Given the description of an element on the screen output the (x, y) to click on. 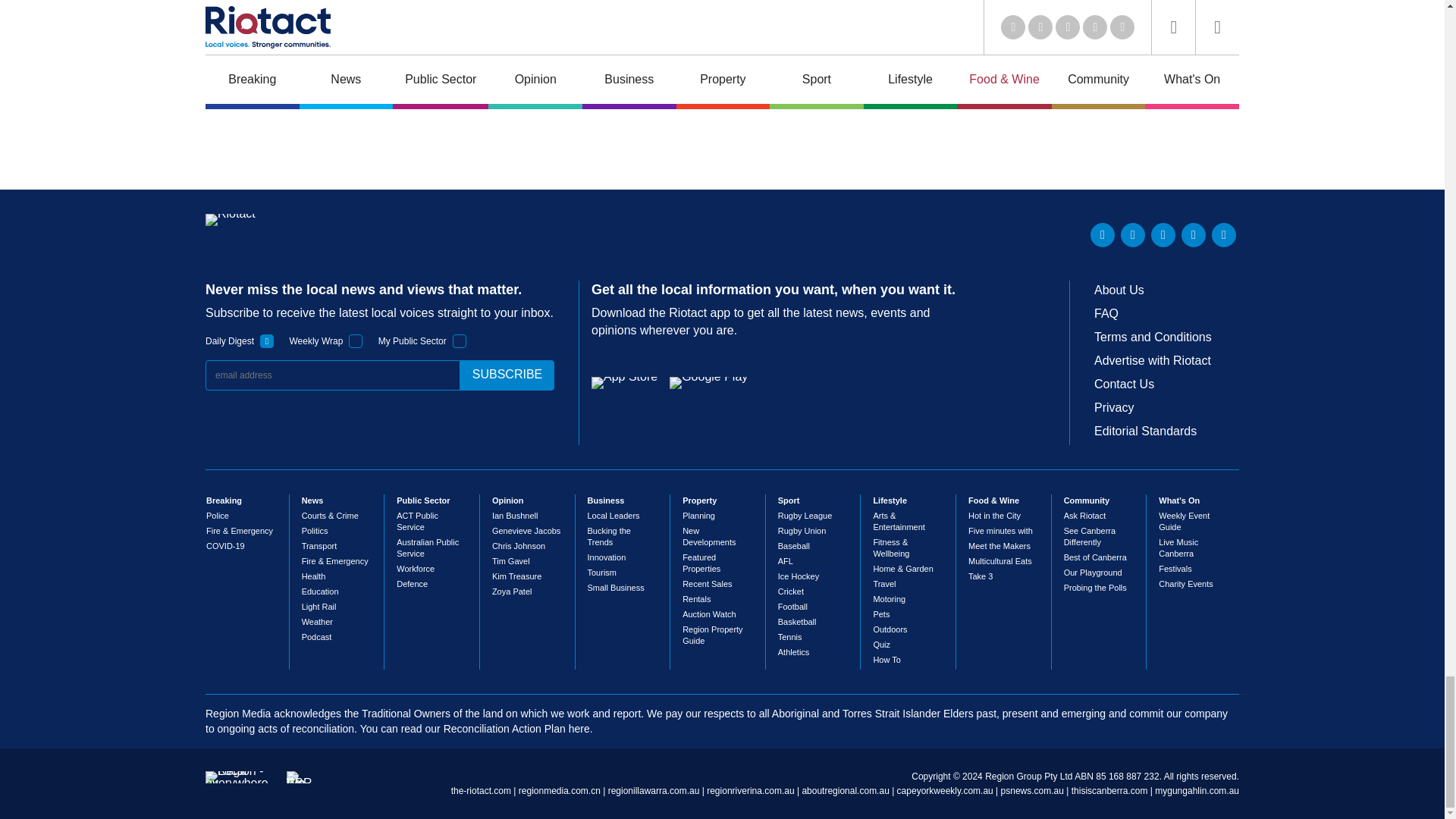
1 (266, 341)
Youtube (1162, 234)
Twitter (1132, 234)
LinkedIn (1102, 234)
1 (458, 341)
1 (355, 341)
subscribe (507, 375)
